Given the description of an element on the screen output the (x, y) to click on. 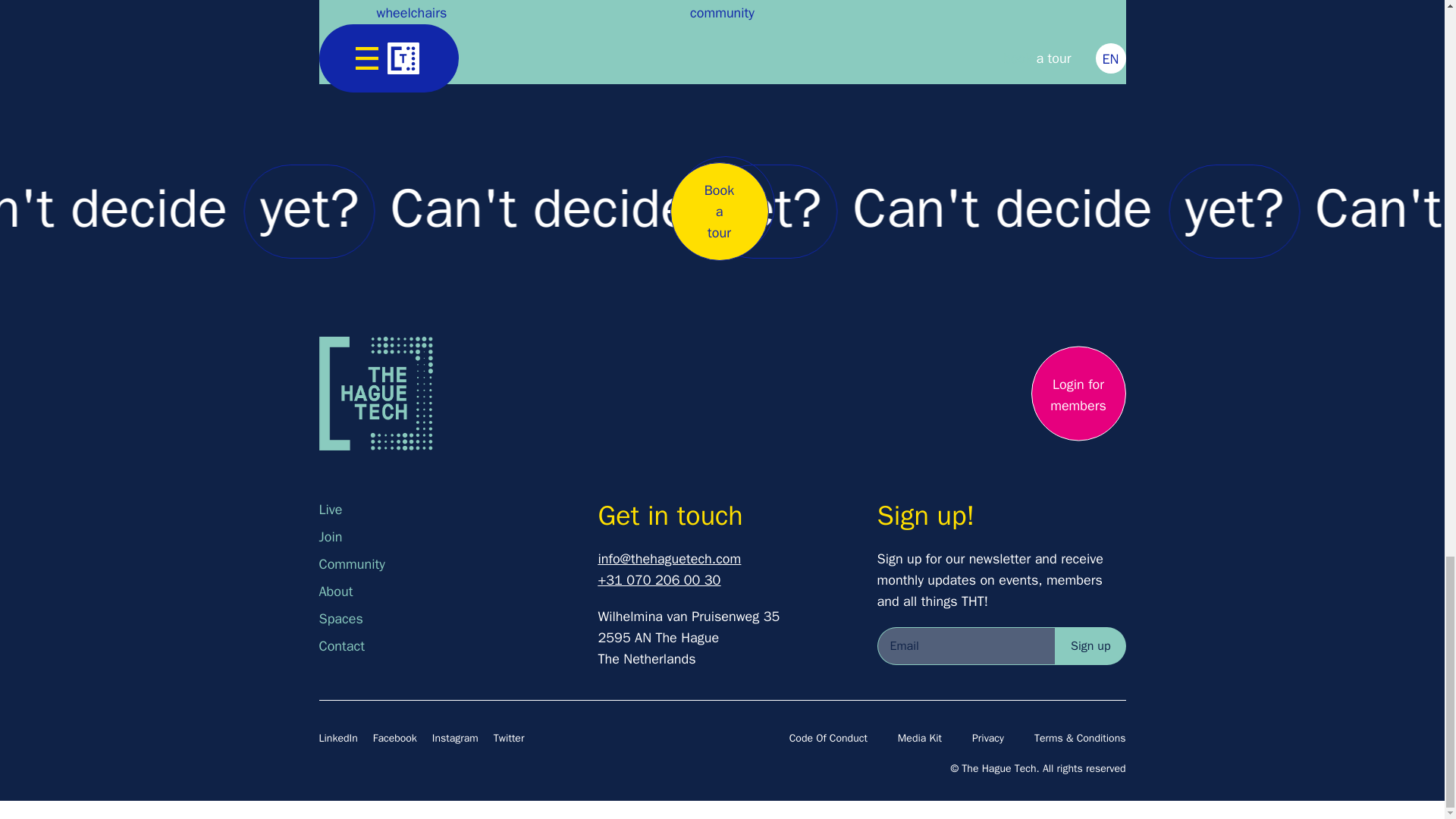
Community (442, 563)
About (442, 590)
Spaces (442, 618)
Live (442, 509)
Sign up (1090, 646)
Contact (442, 645)
Book a tour (718, 211)
Join (442, 536)
